Given the description of an element on the screen output the (x, y) to click on. 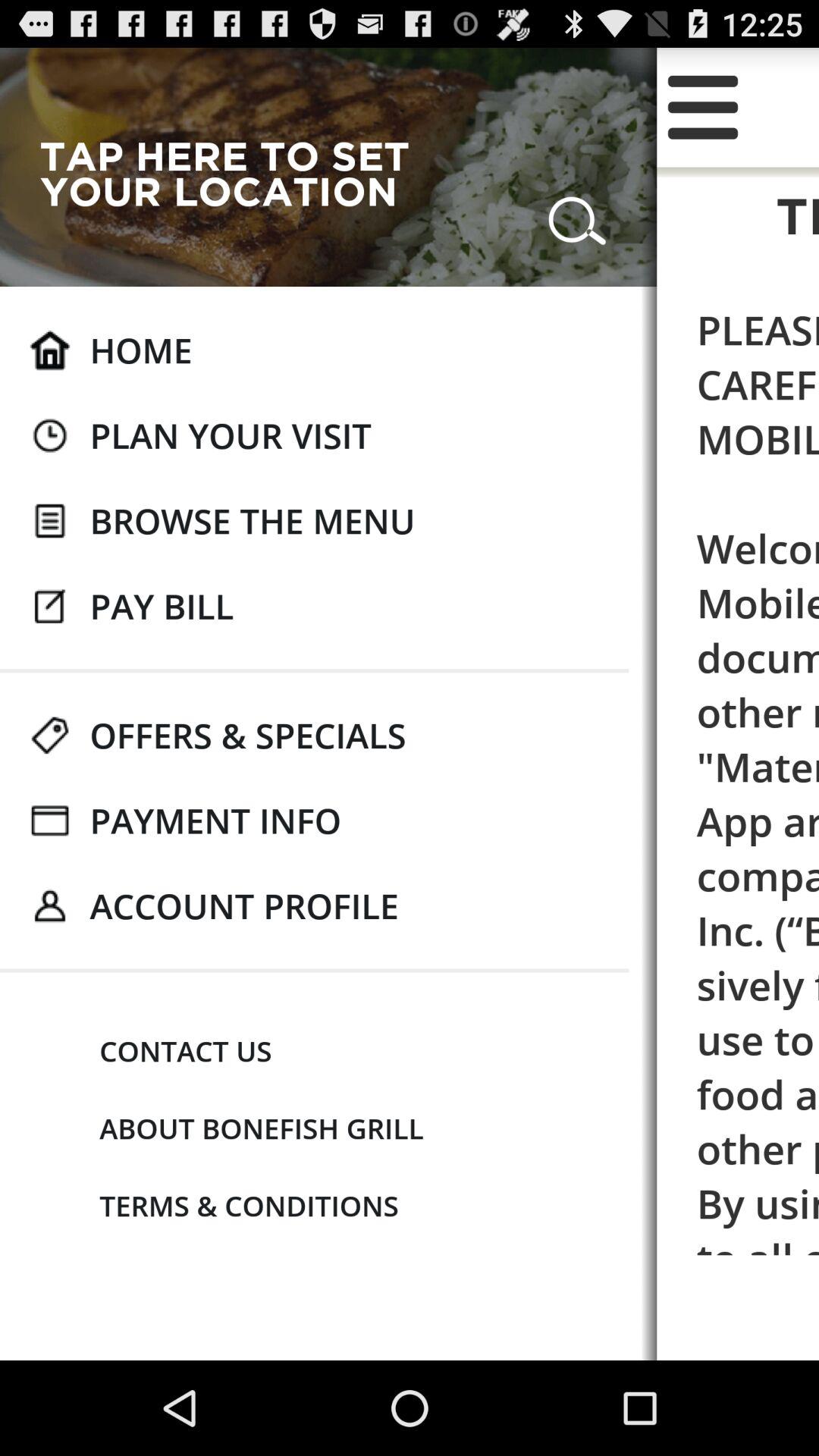
choose item above pay bill item (252, 520)
